Given the description of an element on the screen output the (x, y) to click on. 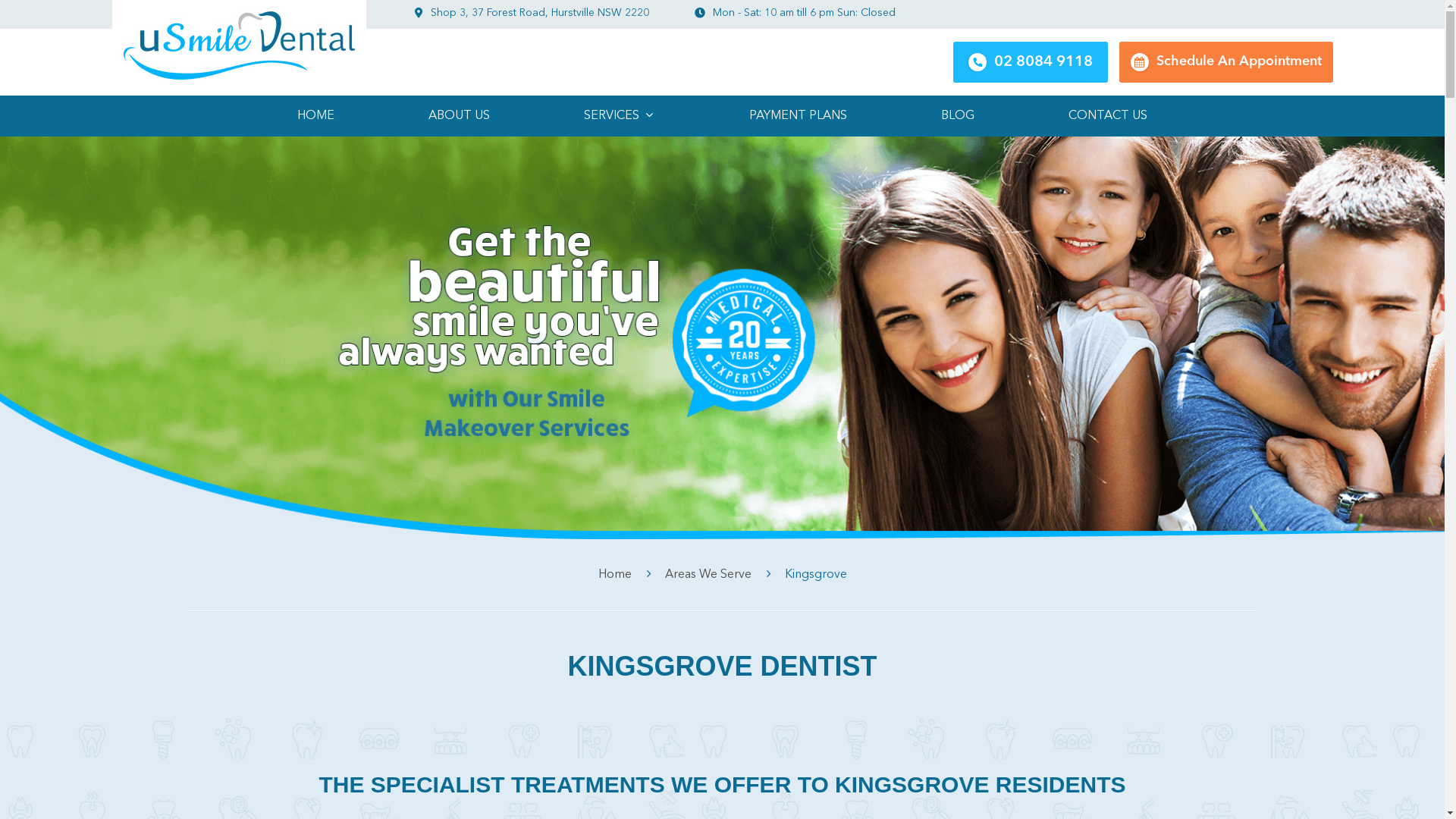
BLOG Element type: text (957, 115)
PAYMENT PLANS Element type: text (797, 115)
ABOUT US Element type: text (458, 115)
02 8084 9118 Element type: text (1029, 61)
Home Element type: text (613, 574)
SERVICES Element type: text (619, 115)
CONTACT US Element type: text (1107, 115)
HOME Element type: text (315, 115)
Areas We Serve Element type: text (707, 574)
Schedule An Appointment Element type: text (1226, 61)
